Given the description of an element on the screen output the (x, y) to click on. 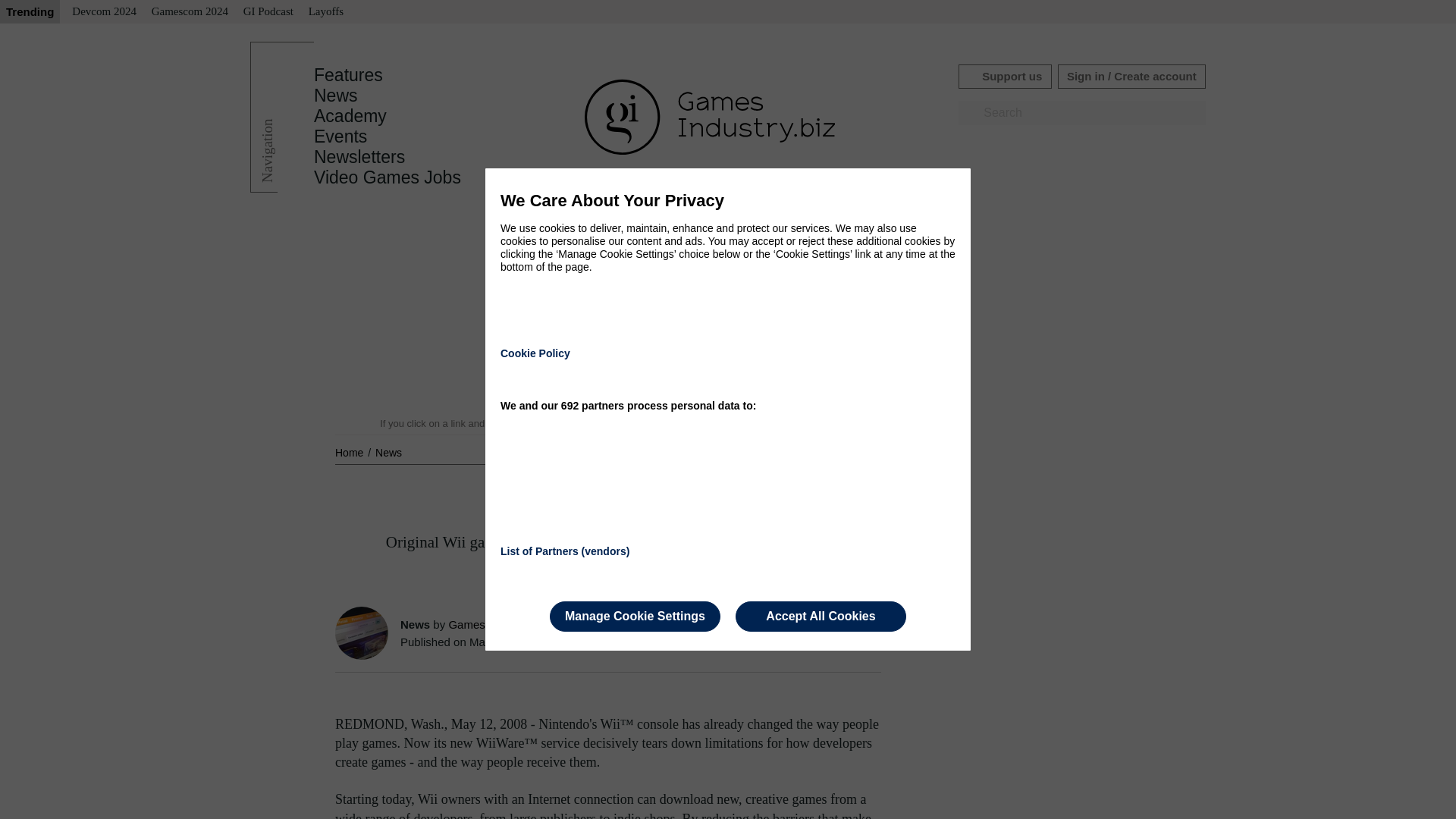
Home (350, 452)
News (336, 95)
Academy (350, 116)
Features (348, 75)
Read our editorial policy (781, 423)
Devcom 2024 (103, 11)
Newsletters (359, 157)
Layoffs (325, 11)
Layoffs (325, 11)
Academy (350, 116)
